Given the description of an element on the screen output the (x, y) to click on. 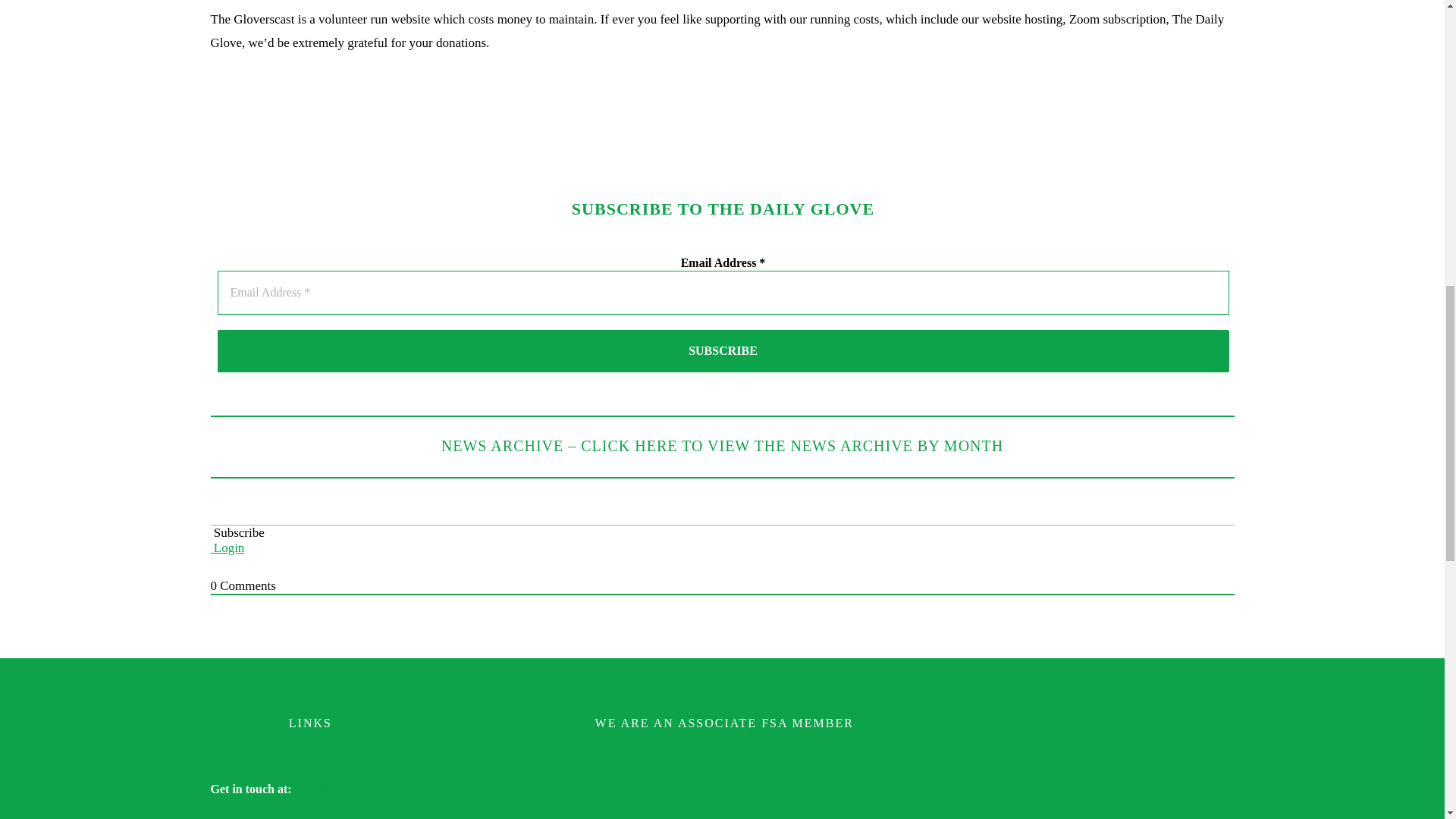
SUBSCRIBE (722, 351)
Email Address (722, 292)
